Given the description of an element on the screen output the (x, y) to click on. 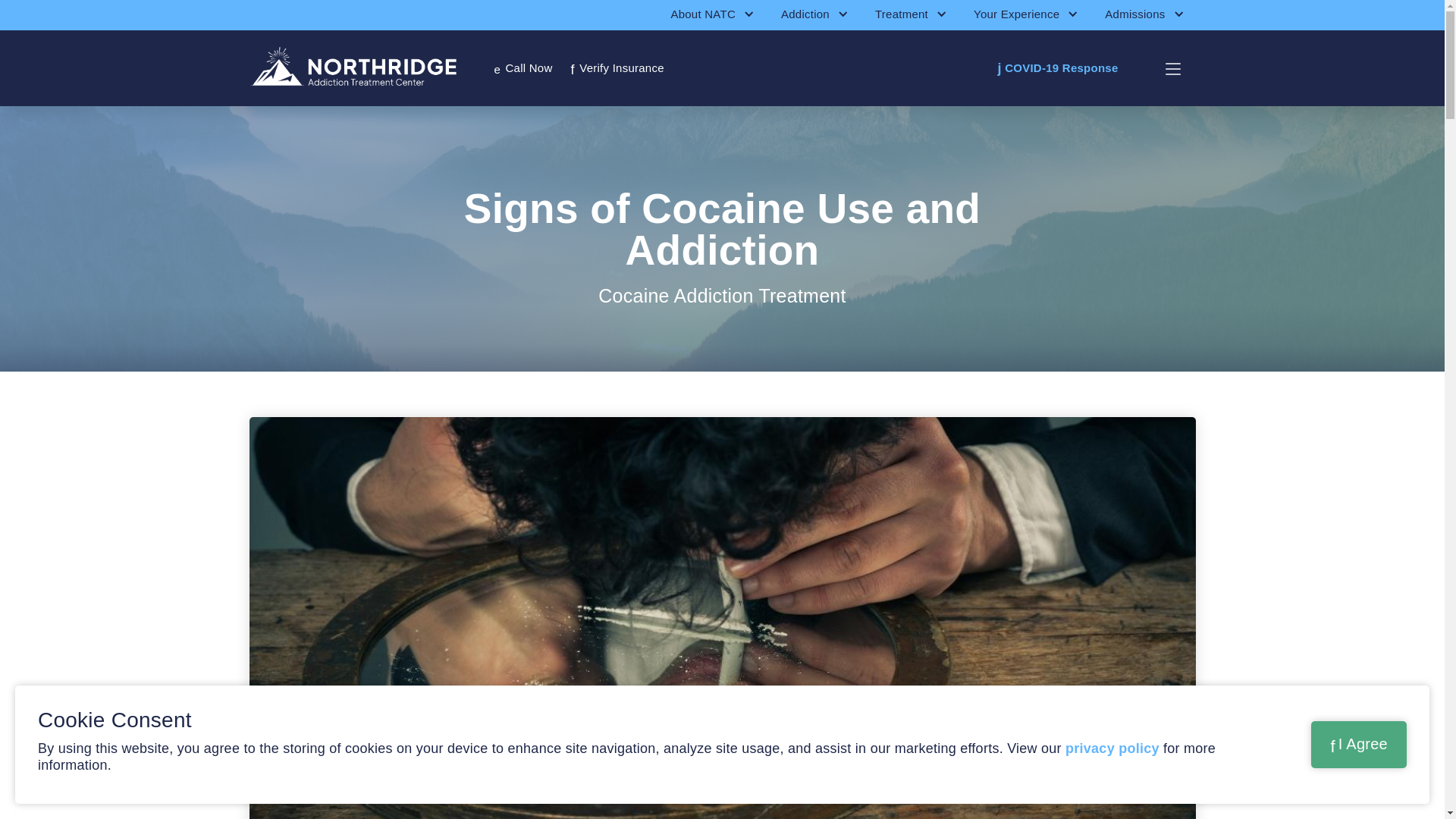
e Call Now (524, 68)
f Verify Insurance (1057, 68)
Verify LegitScript Approval (616, 67)
